Given the description of an element on the screen output the (x, y) to click on. 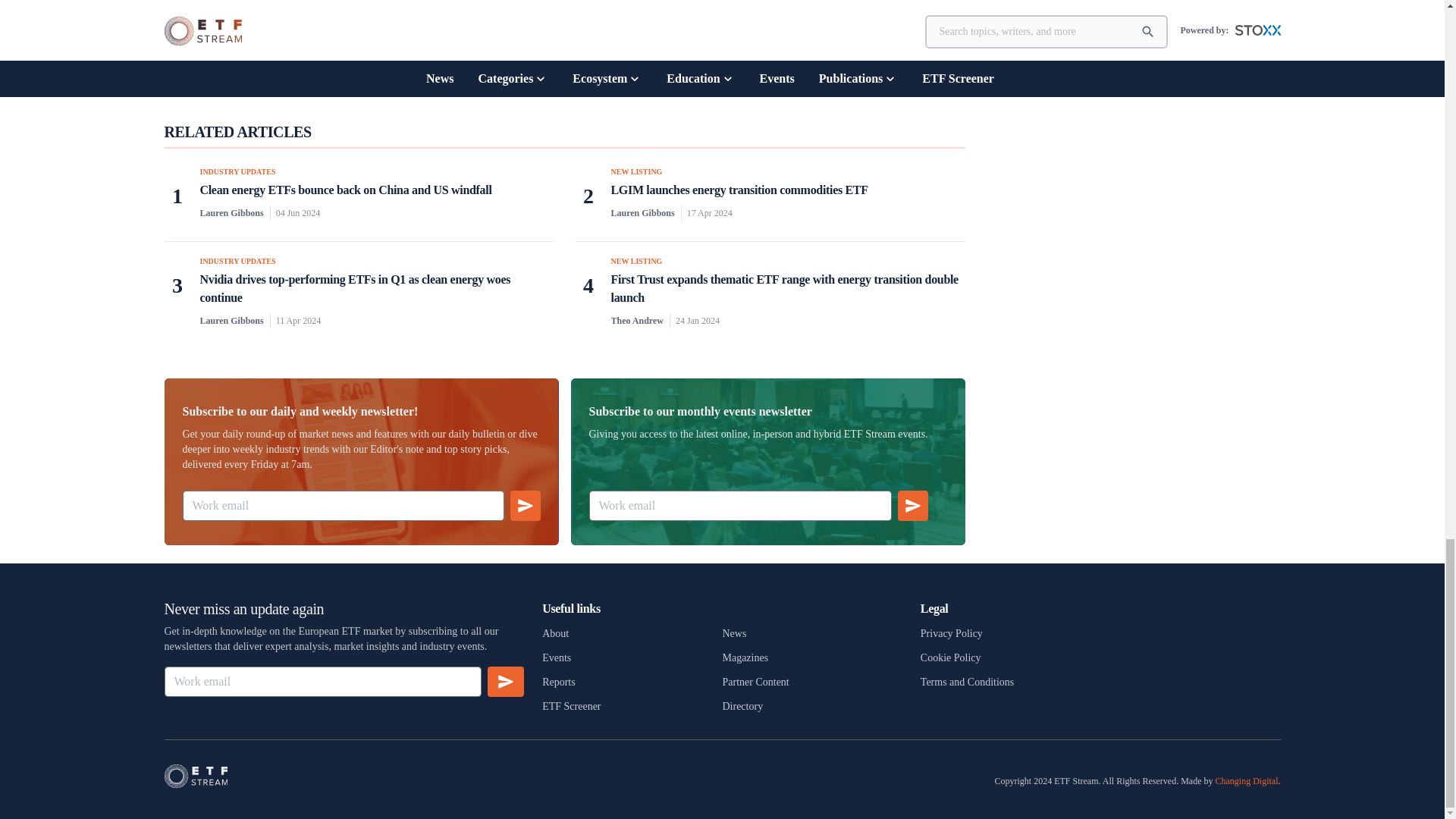
INRG (176, 56)
CLEAN ENERGY (608, 56)
ZERO (210, 56)
GCLE (241, 57)
